Given the description of an element on the screen output the (x, y) to click on. 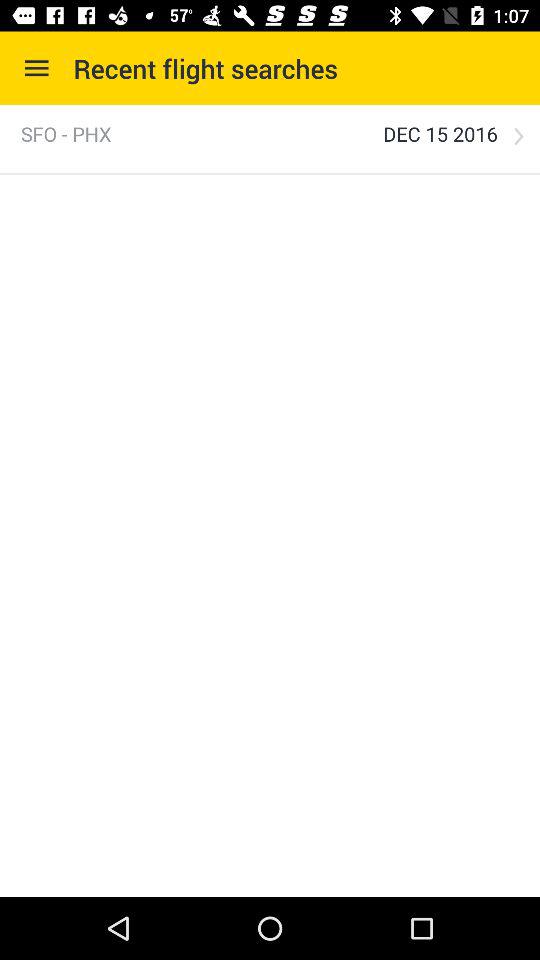
open the icon next to sfo - phx item (440, 133)
